Given the description of an element on the screen output the (x, y) to click on. 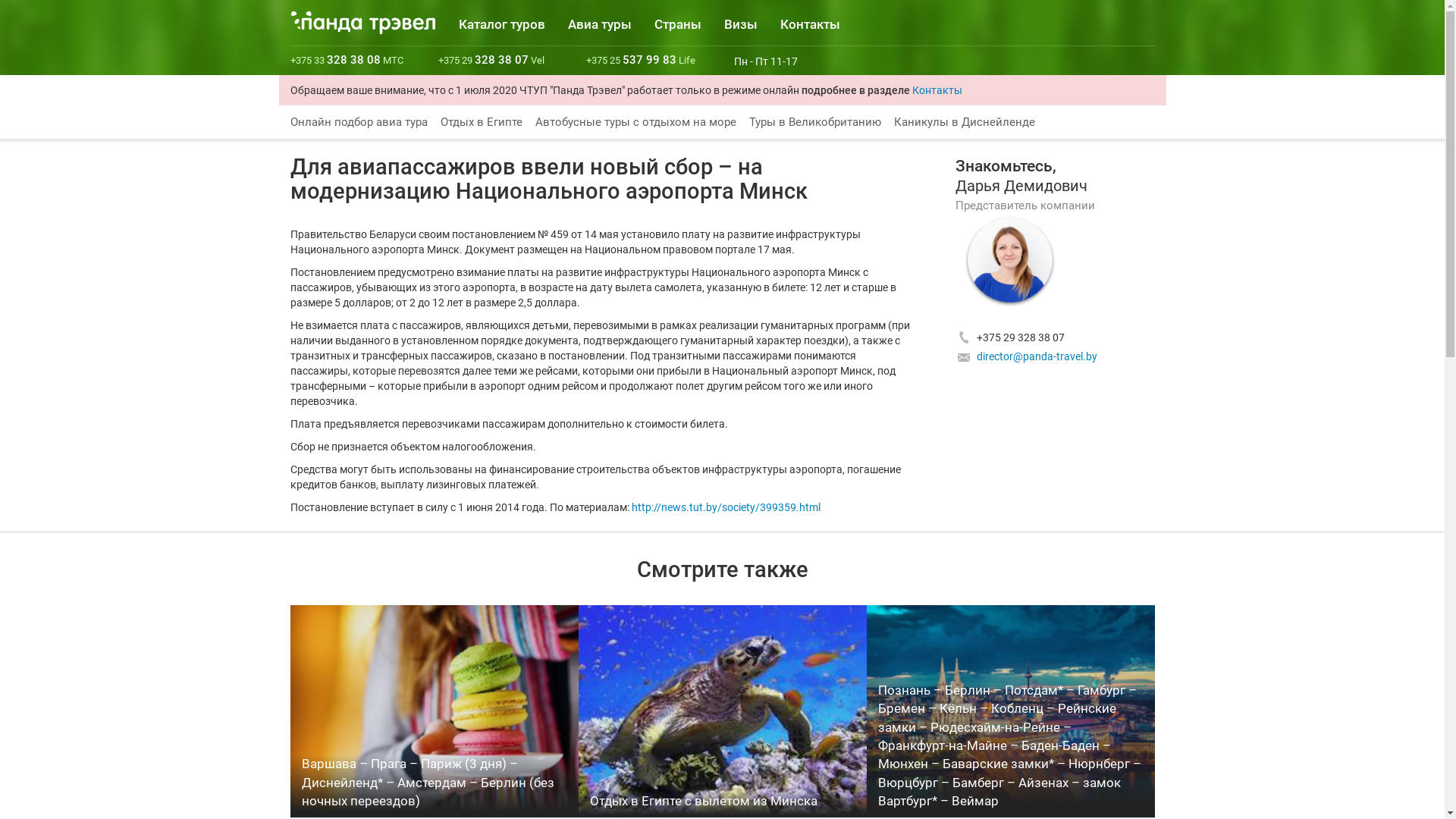
+375 29 328 38 07 Vel Element type: text (491, 59)
director@panda-travel.by Element type: text (1036, 356)
http://news.tut.by/society/399359.html Element type: text (724, 507)
+375 25 537 99 83 Life Element type: text (639, 59)
